Given the description of an element on the screen output the (x, y) to click on. 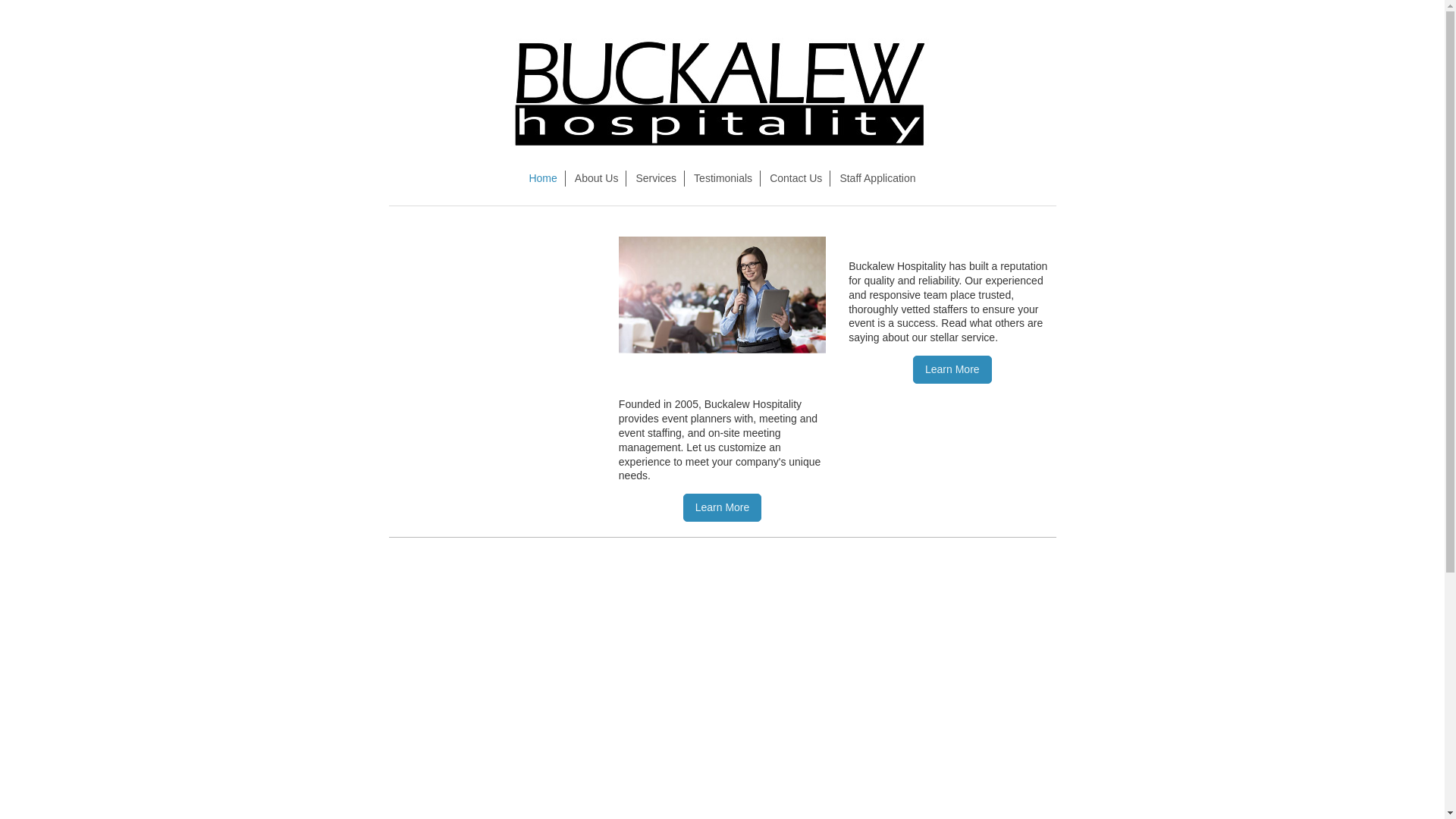
About Us (597, 178)
Home (542, 178)
Staff Application (877, 178)
Learn More (721, 507)
Contact Us (795, 178)
Services (655, 178)
Learn More (951, 369)
Testimonials (722, 178)
